Given the description of an element on the screen output the (x, y) to click on. 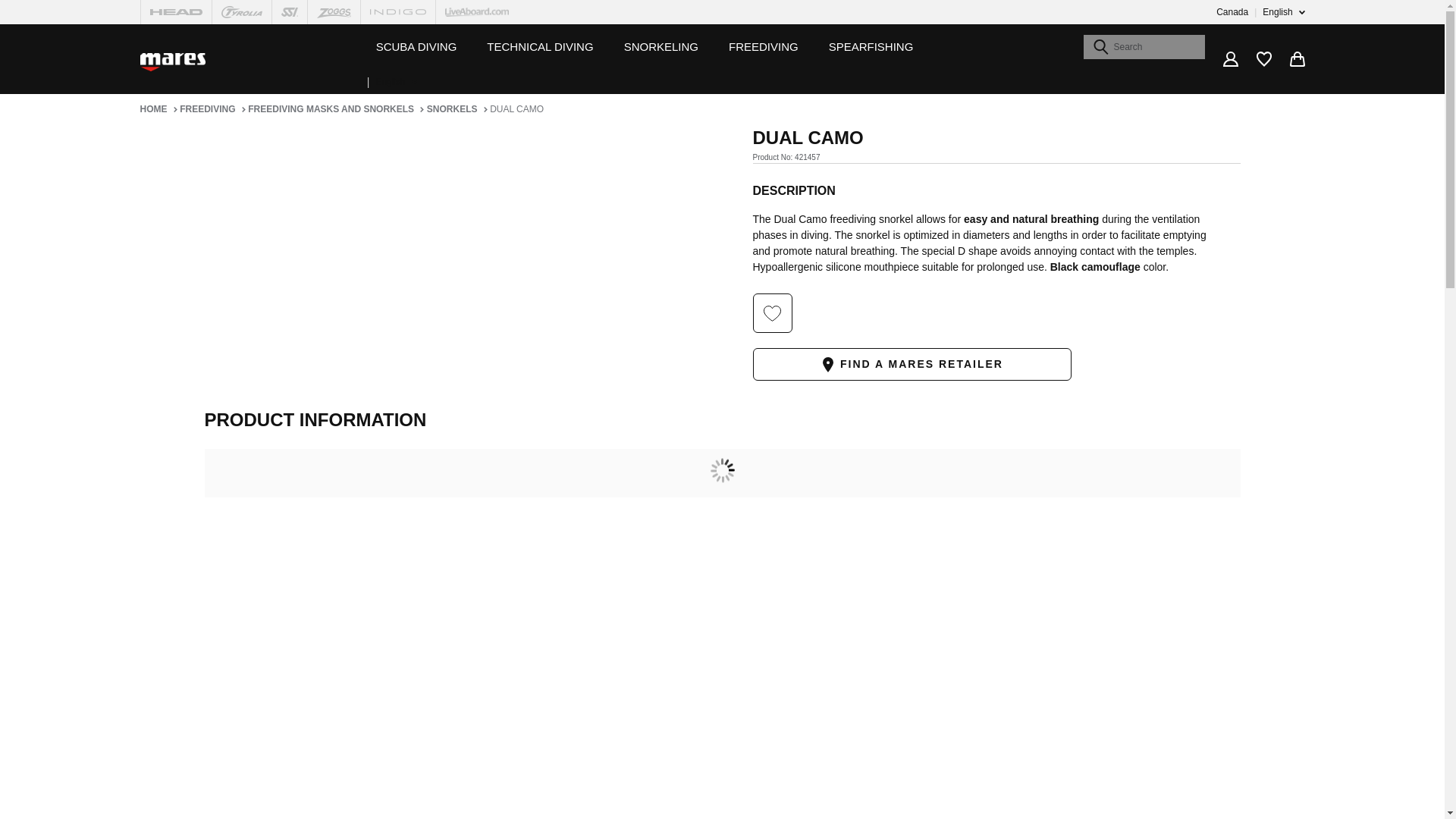
Mares (172, 62)
Tyrolia (240, 12)
Search (1100, 46)
Zoggs (333, 12)
Go to Home Page (157, 109)
Indigo (396, 12)
Find a MARES Retailer (911, 364)
Liveaboard (476, 12)
SSI (288, 12)
